Given the description of an element on the screen output the (x, y) to click on. 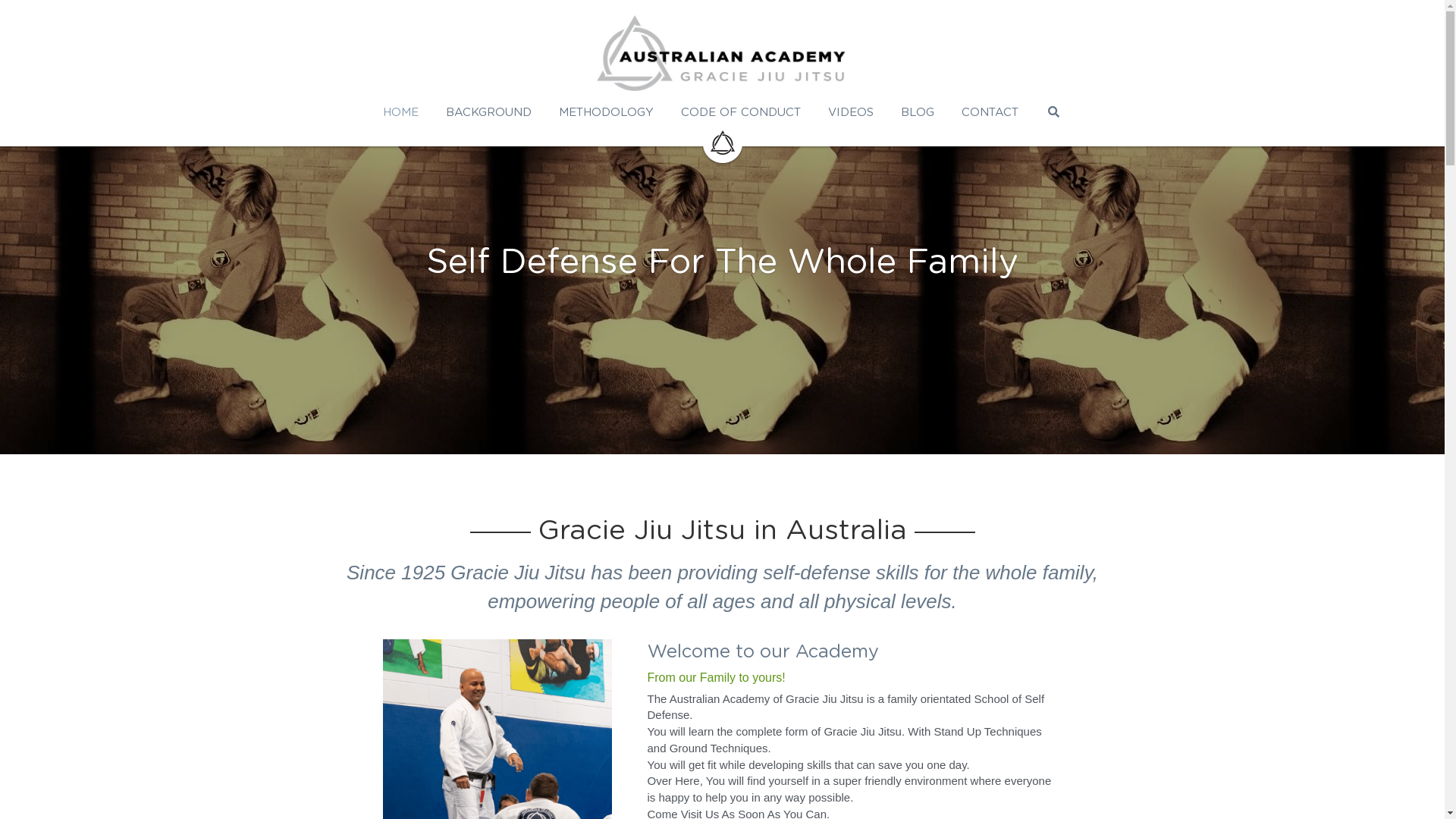
BLOG Element type: text (917, 112)
METHODOLOGY Element type: text (605, 112)
CONTACT Element type: text (989, 112)
VIDEOS Element type: text (850, 112)
CODE OF CONDUCT Element type: text (740, 112)
HOME Element type: text (400, 112)
BACKGROUND Element type: text (488, 112)
